Given the description of an element on the screen output the (x, y) to click on. 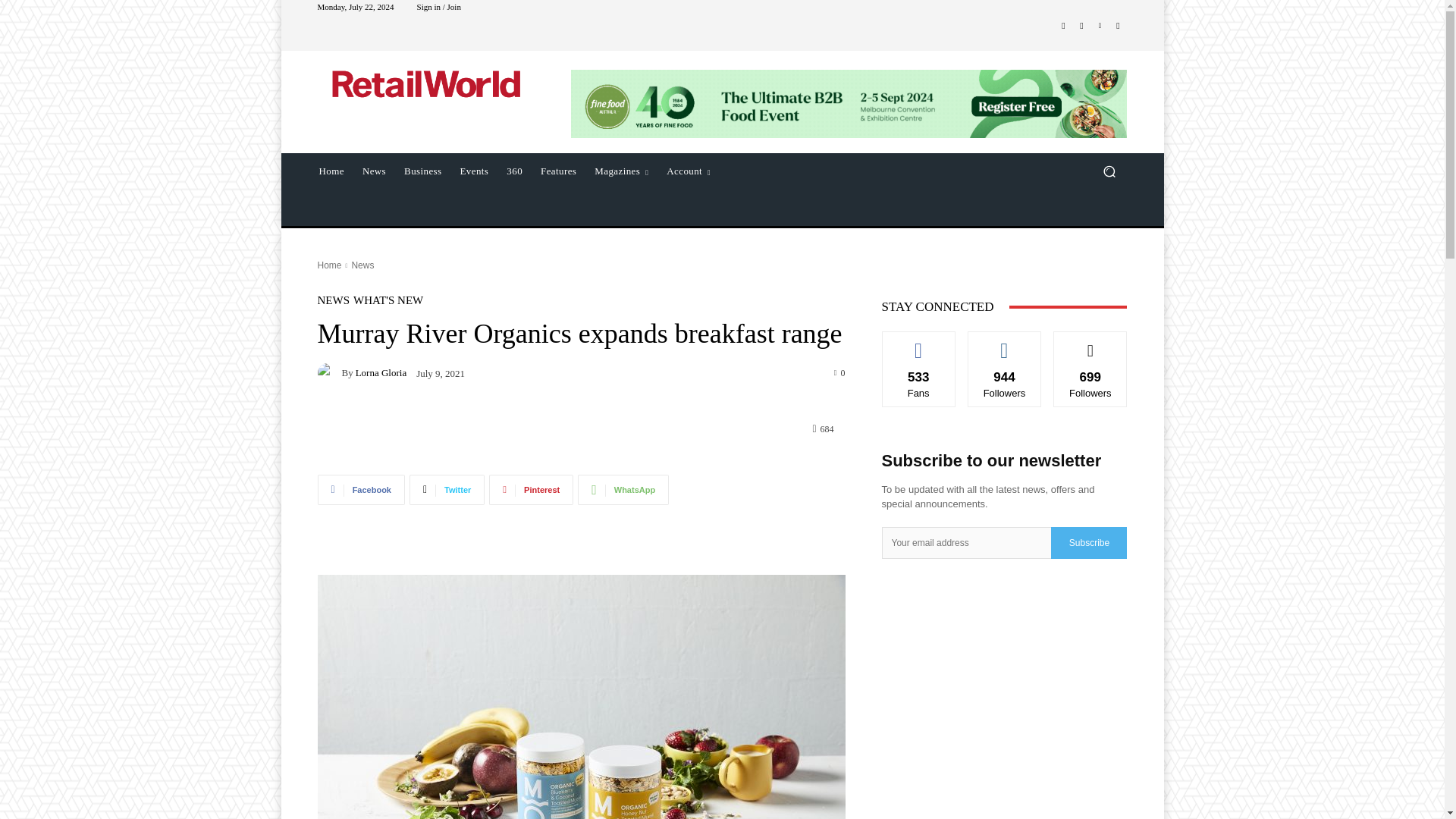
Facebook (360, 490)
Twitter (1117, 25)
Instagram (1080, 25)
Pinterest (531, 490)
360 (514, 171)
View all posts in News (362, 265)
MuesliNewSKU-A (580, 696)
WhatsApp (623, 490)
Business (421, 171)
Linkedin (1099, 25)
Features (558, 171)
Twitter (446, 490)
Lorna Gloria (328, 373)
News (373, 171)
Events (474, 171)
